Given the description of an element on the screen output the (x, y) to click on. 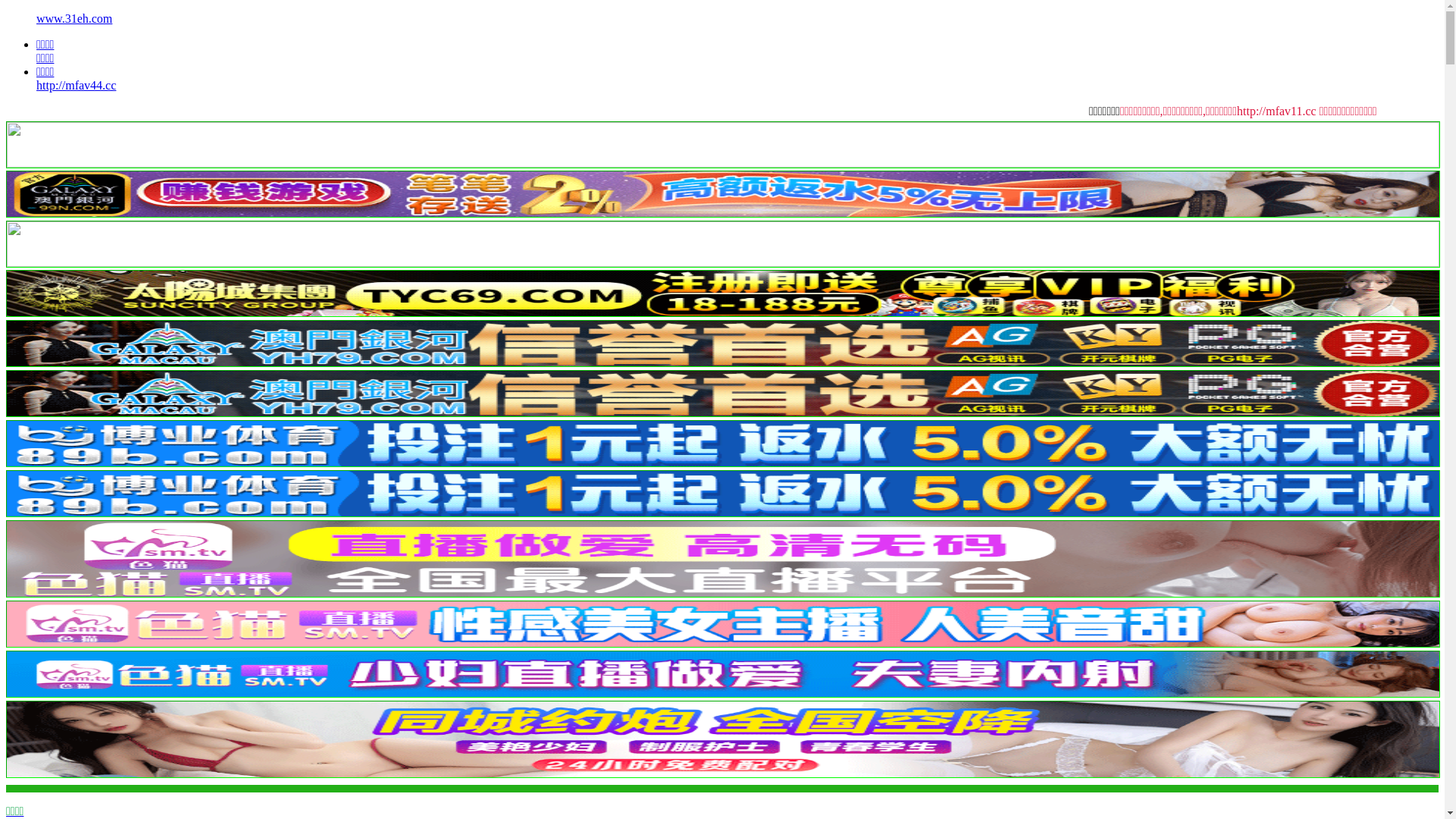
http://mfav44.cc Element type: text (76, 84)
www.31eh.com Element type: text (74, 18)
